Given the description of an element on the screen output the (x, y) to click on. 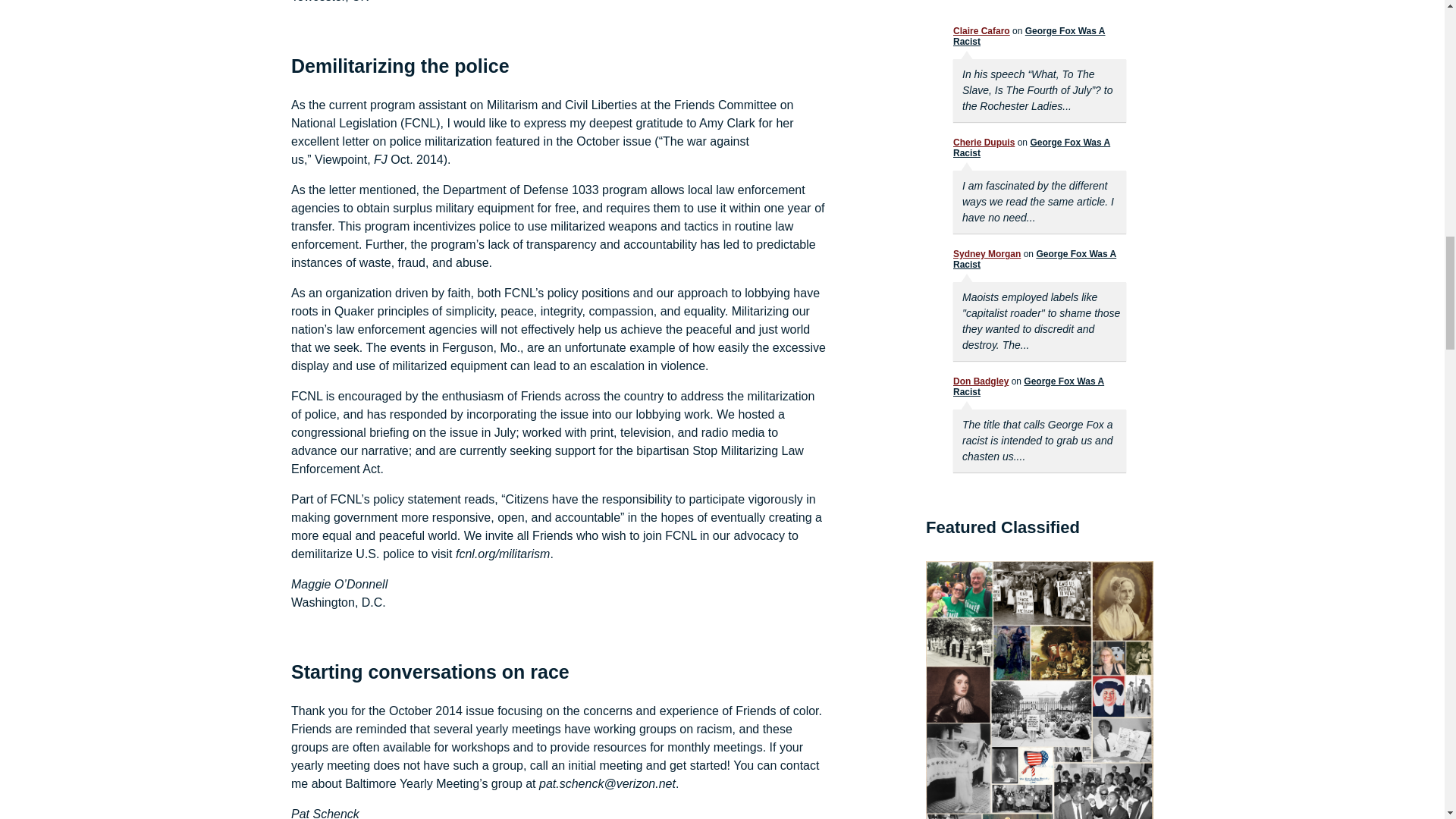
George Fox Was A Racist (1034, 259)
George Fox Was A Racist (1028, 386)
George Fox Was A Racist (1031, 147)
George Fox Was A Racist (1029, 35)
